Given the description of an element on the screen output the (x, y) to click on. 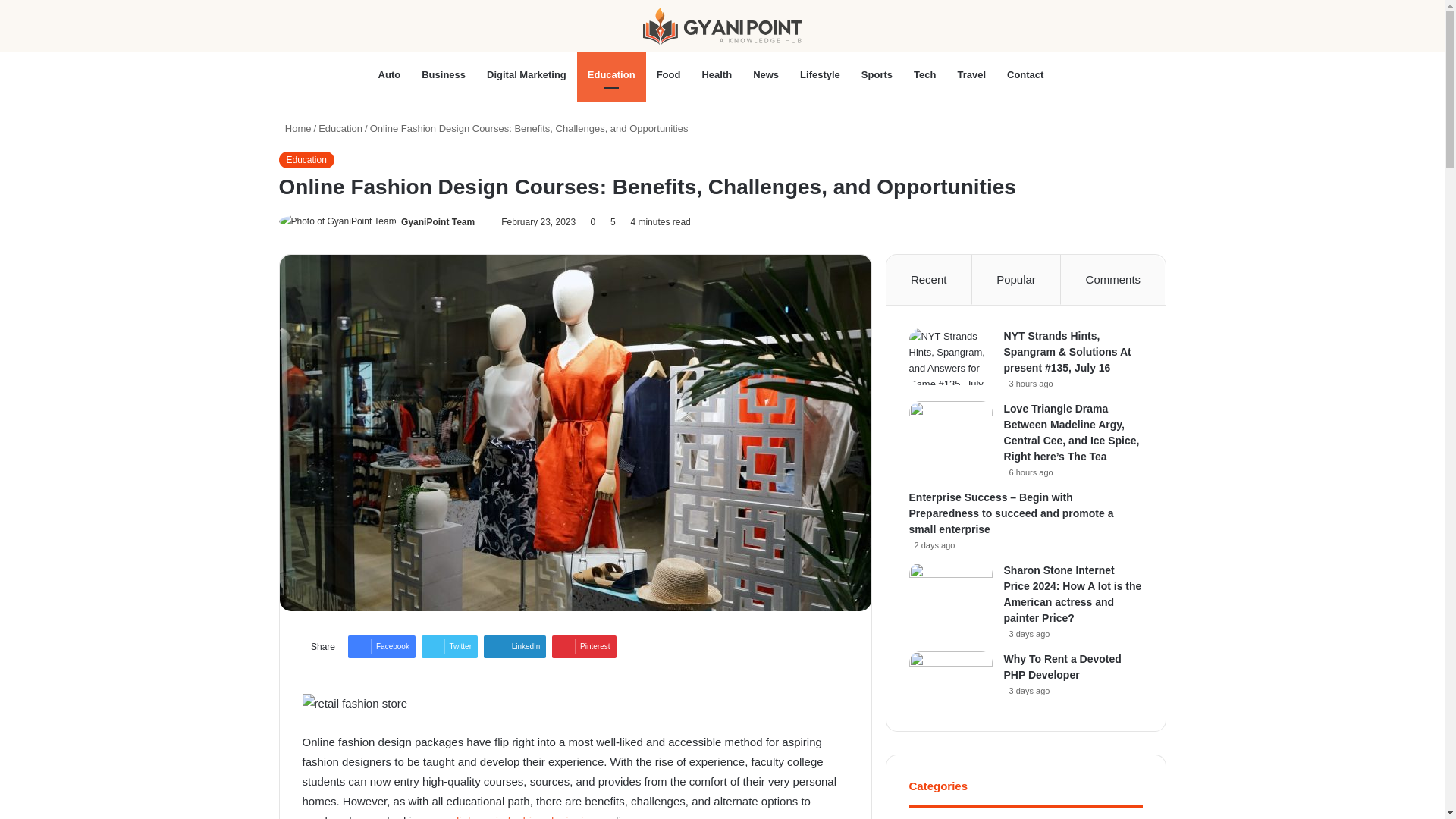
Business (443, 74)
Twitter (449, 646)
diploma in fashion designing (523, 816)
GyaniPoint Team (437, 222)
Education (611, 74)
Twitter (449, 646)
Education (340, 128)
Facebook (380, 646)
Food (668, 74)
Health (716, 74)
GyaniPoint (722, 26)
Auto (390, 74)
Home (295, 128)
